Given the description of an element on the screen output the (x, y) to click on. 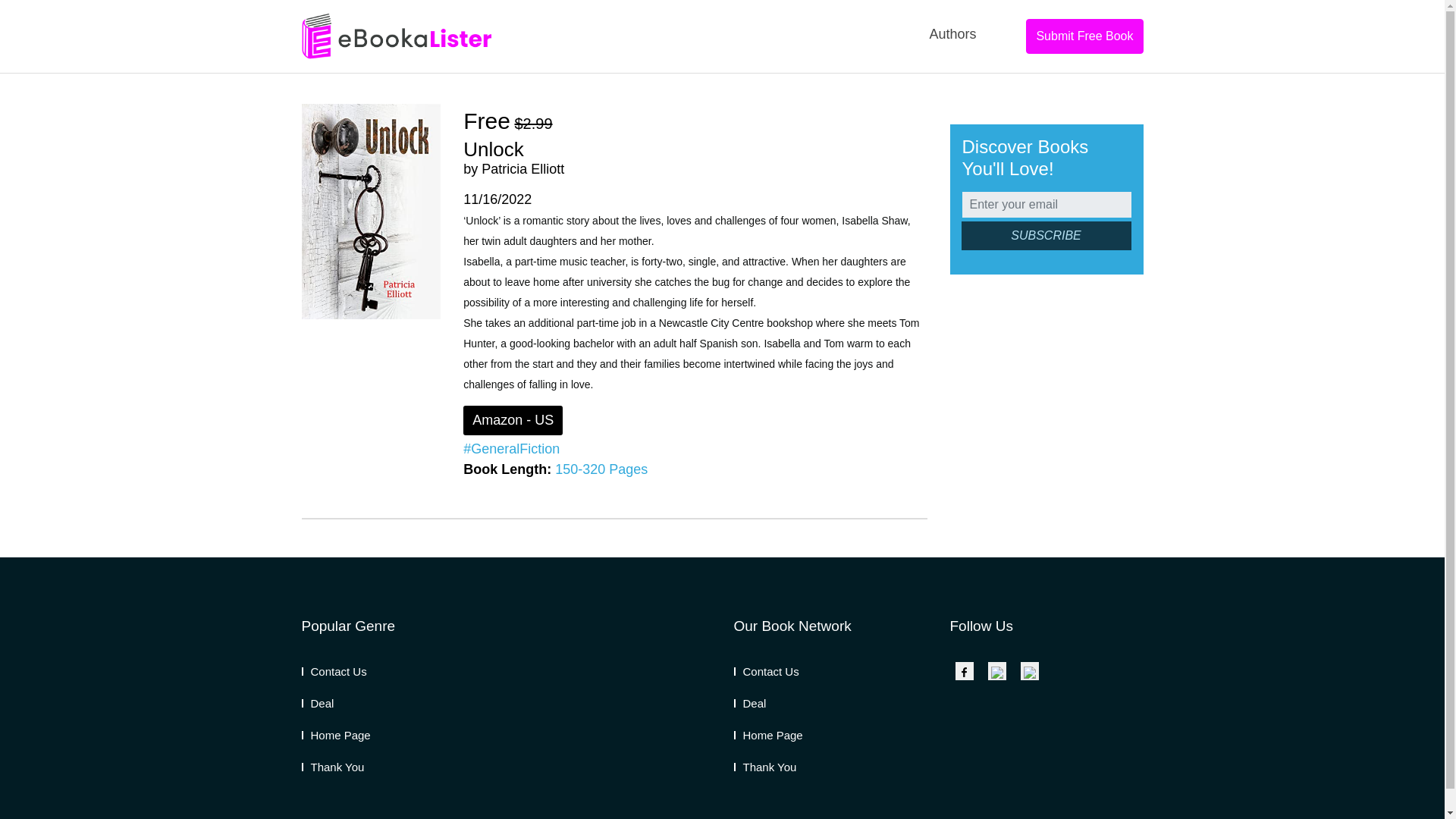
Home Page (768, 735)
Subscribe (1045, 235)
Contact Us (766, 671)
Thank You (764, 766)
Thank You (333, 766)
150-320 Pages (600, 468)
Contact Us (333, 671)
Subscribe (1045, 235)
Unlock (492, 149)
Authors (952, 34)
Deal (750, 703)
Amazon - US (512, 419)
Deal (317, 703)
Home Page (336, 735)
Submit Free Book (1084, 36)
